Given the description of an element on the screen output the (x, y) to click on. 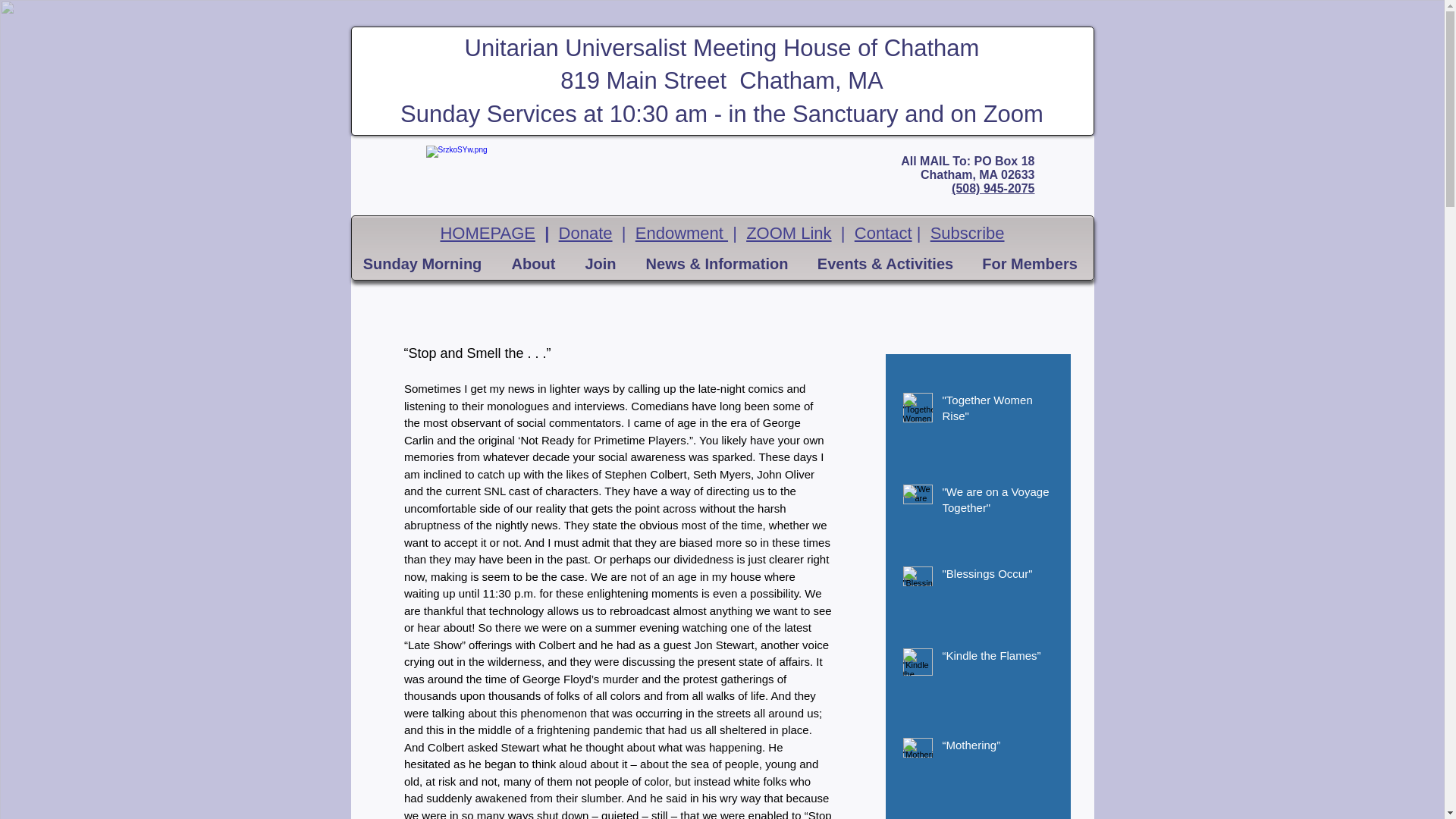
"We are on a Voyage Together" (997, 502)
"Together Women Rise" (997, 410)
"Blessings Occur" (997, 576)
